Given the description of an element on the screen output the (x, y) to click on. 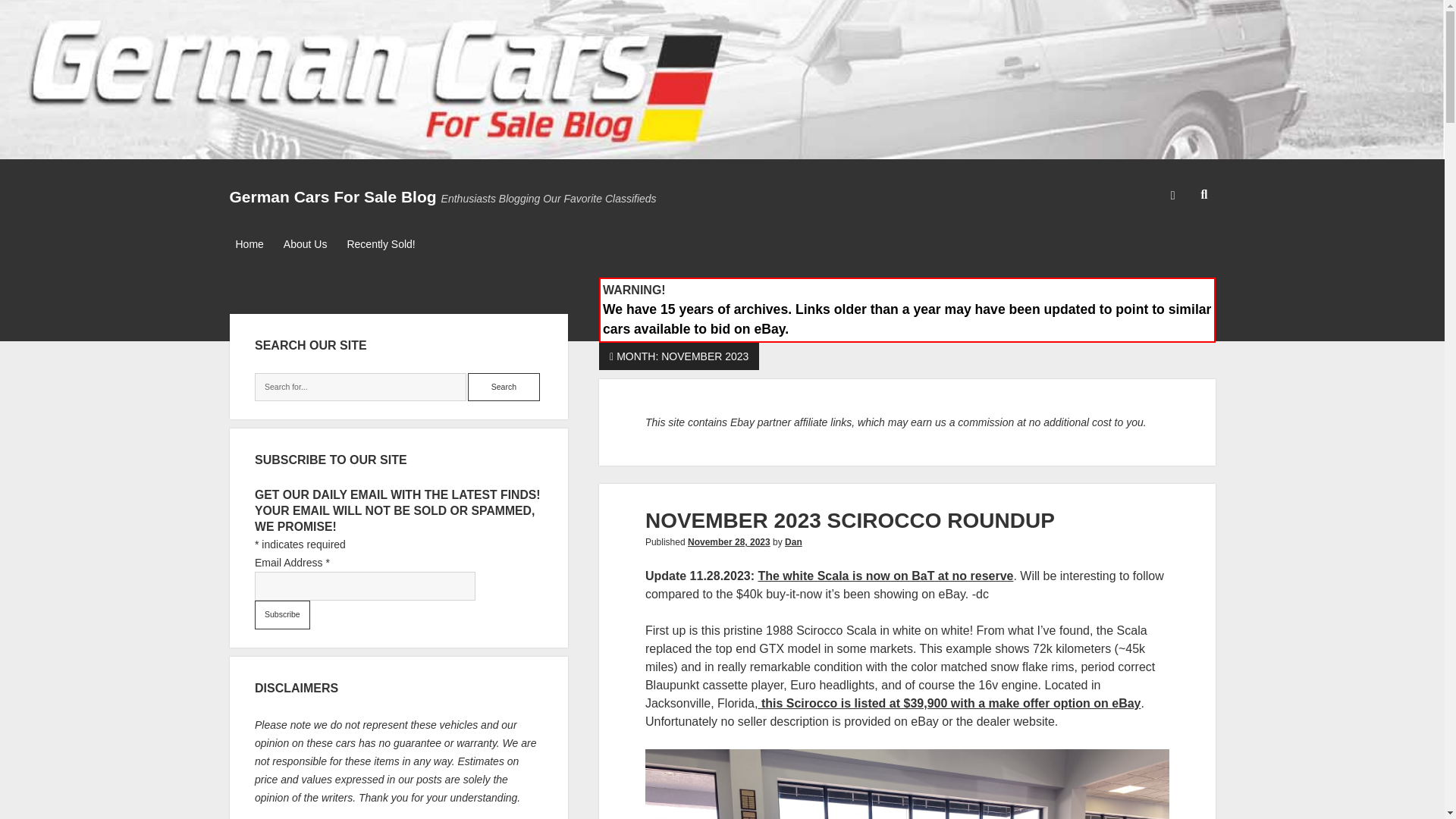
Dan (793, 542)
Home (248, 244)
Search (503, 387)
The white Scala is now on BaT at no reserve (885, 575)
Recently Sold! (380, 244)
About Us (305, 244)
November 28, 2023 (728, 542)
Subscribe (282, 614)
German Cars For Sale Blog (331, 196)
Search for: (359, 387)
NOVEMBER 2023 SCIROCCO ROUNDUP (849, 520)
Search (503, 387)
